Given the description of an element on the screen output the (x, y) to click on. 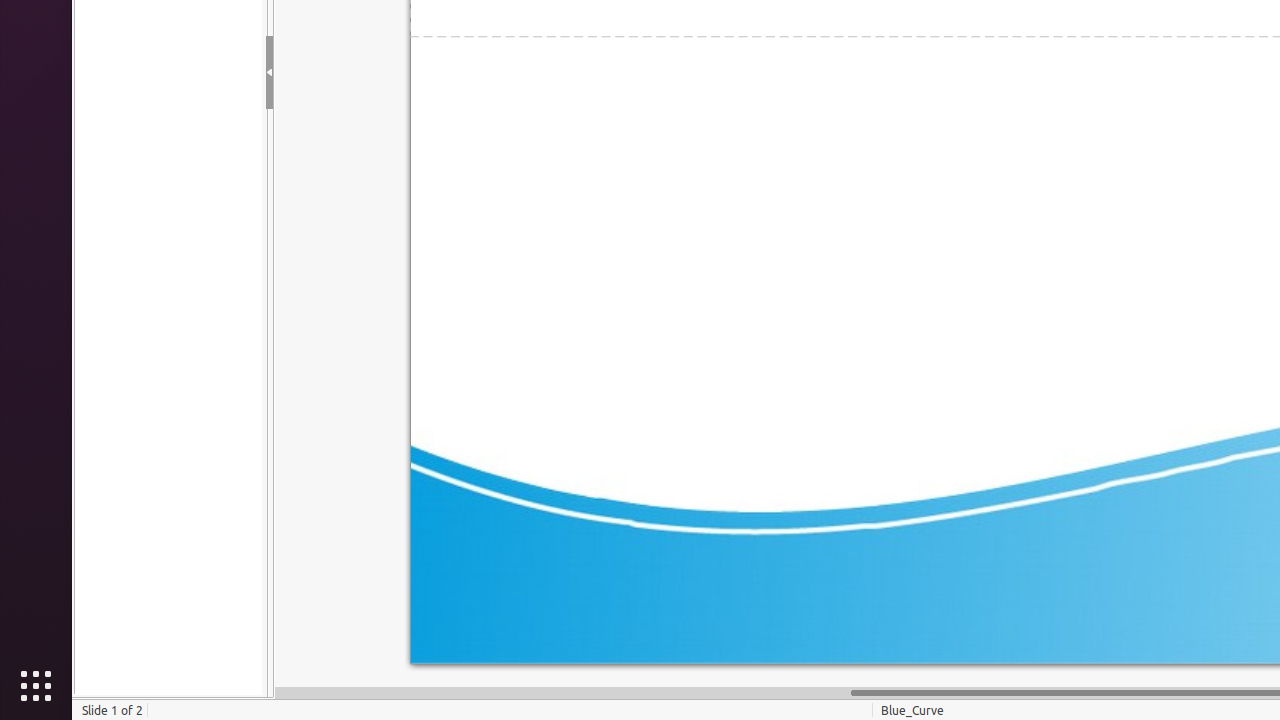
Show Applications Element type: toggle-button (36, 686)
